Given the description of an element on the screen output the (x, y) to click on. 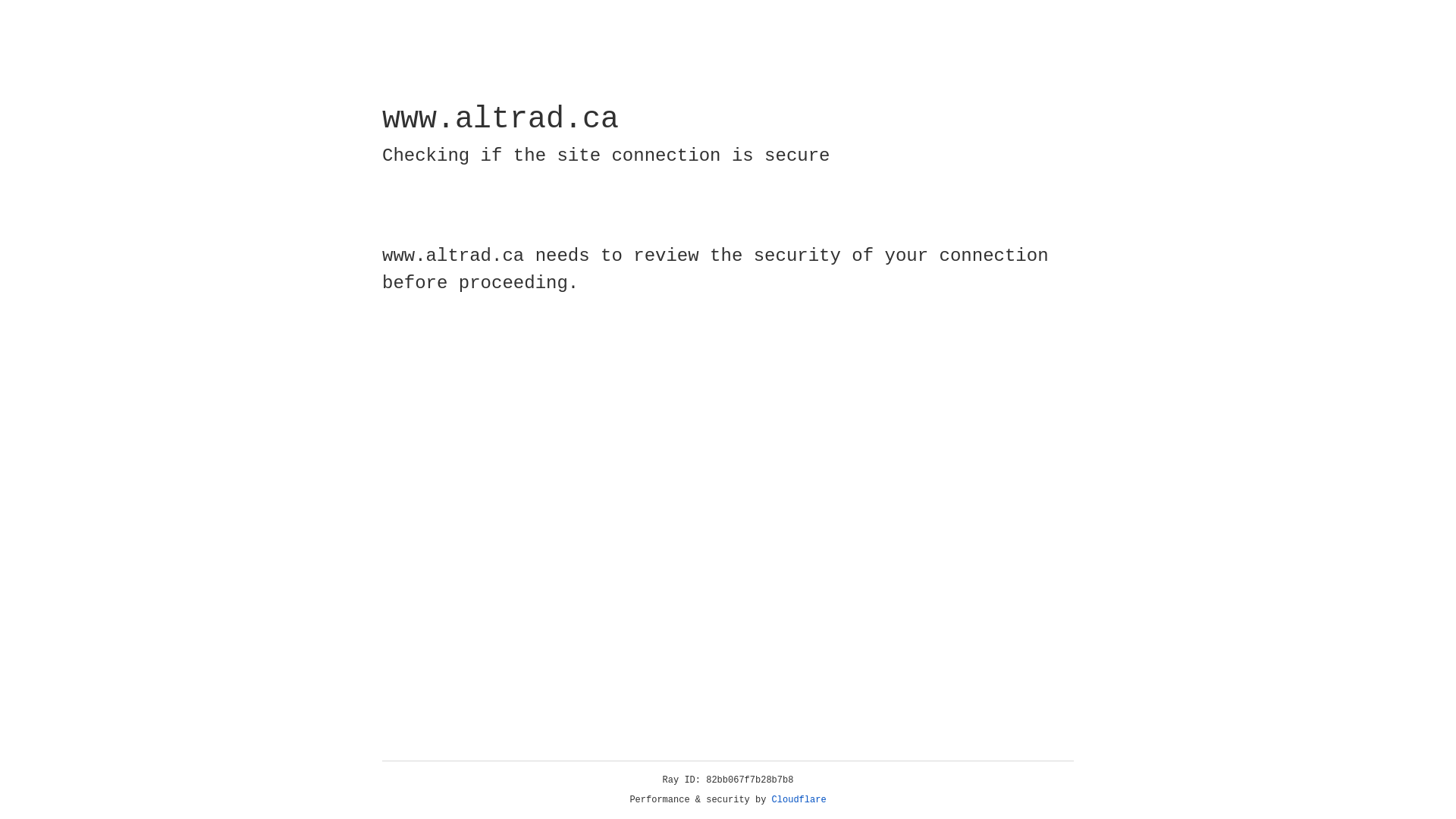
Cloudflare Element type: text (798, 799)
